Given the description of an element on the screen output the (x, y) to click on. 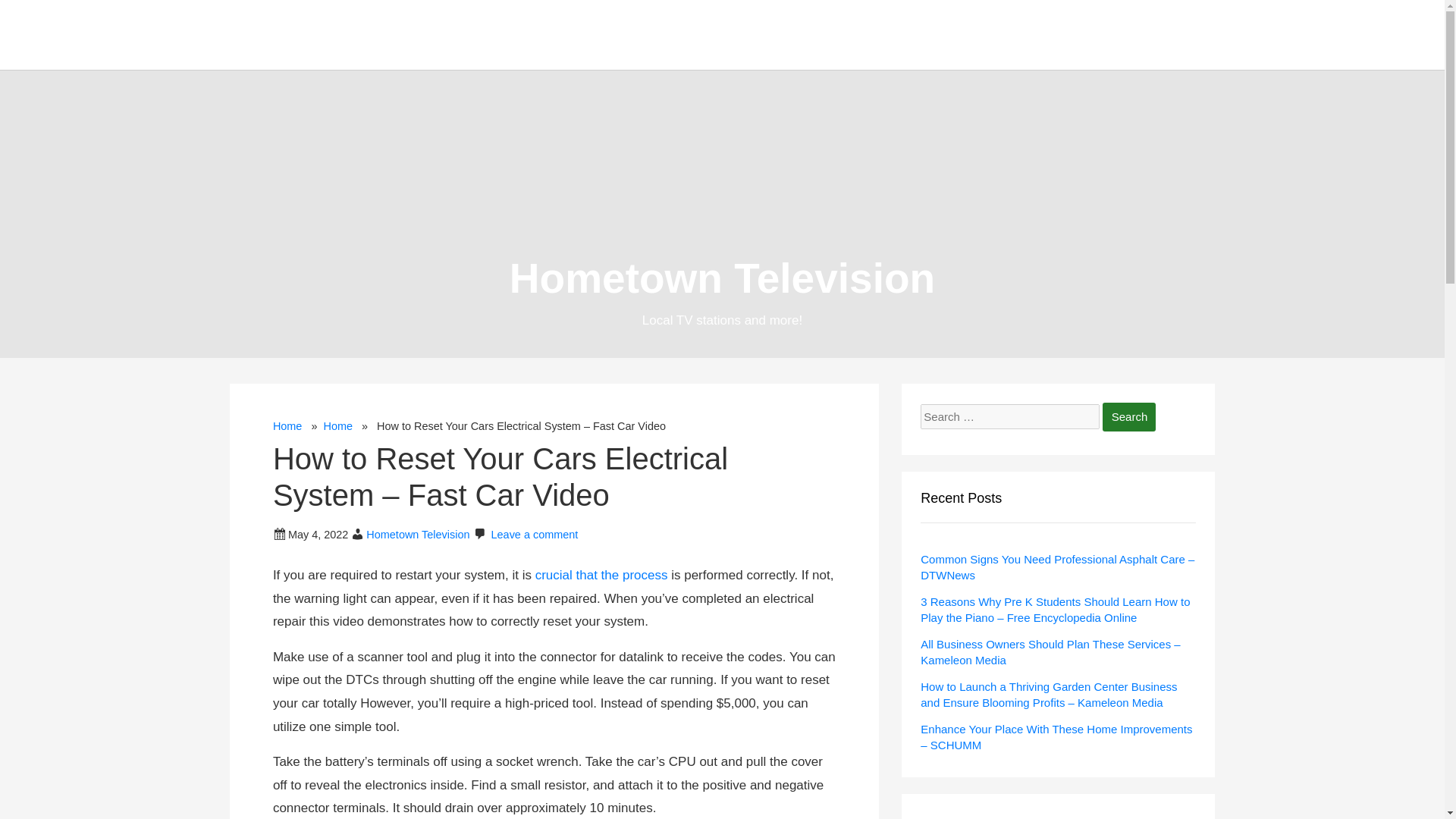
Hometown Television (721, 278)
Home (337, 426)
Search (1129, 416)
Search (1129, 416)
Posts by Hometown Television (417, 534)
Home (287, 426)
Hometown Television (417, 534)
crucial that the process (601, 575)
Search (1129, 416)
Leave a comment (535, 534)
